Given the description of an element on the screen output the (x, y) to click on. 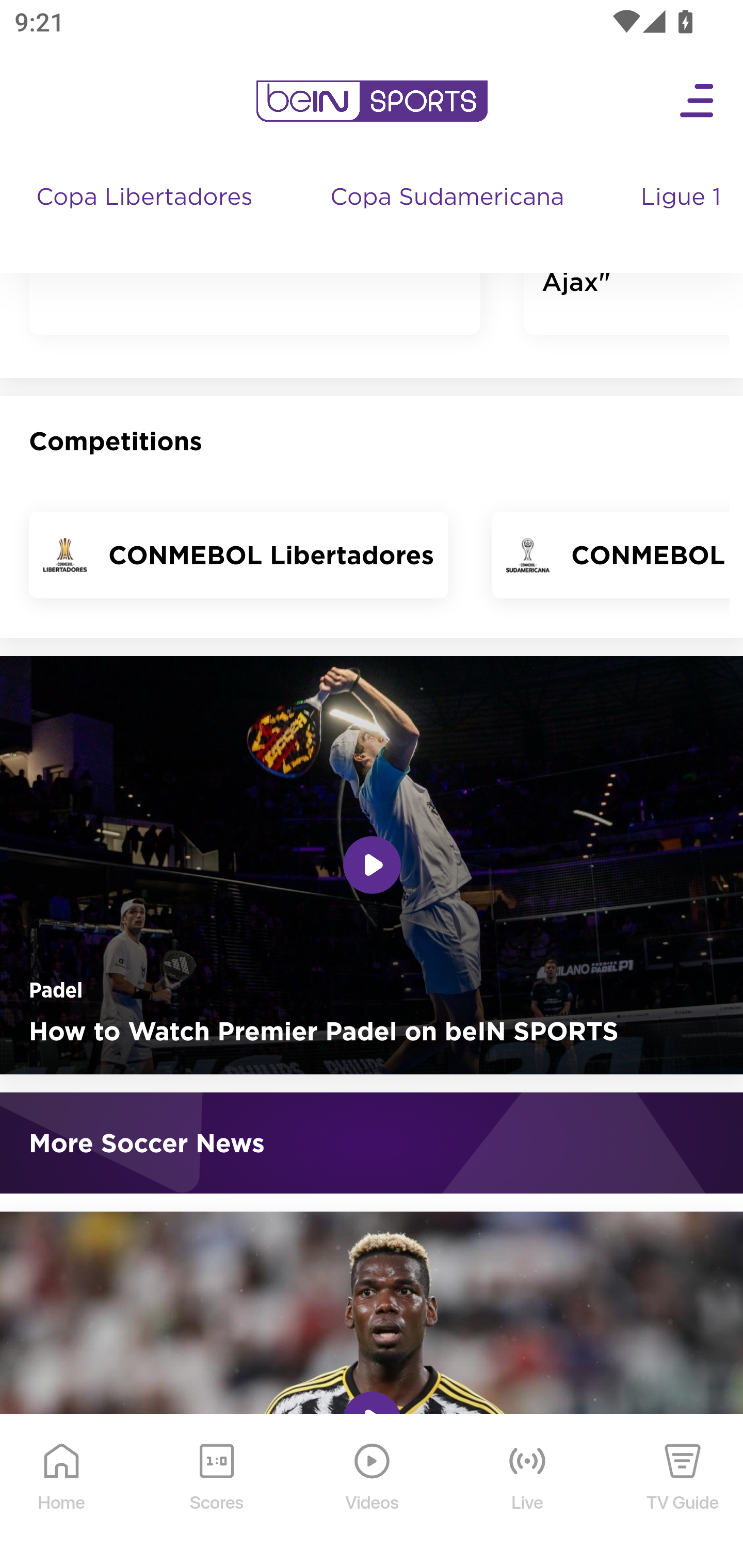
en-us?platform=mobile_android bein logo (371, 101)
Open Menu Icon (697, 101)
Copa Libertadores (146, 216)
Copa Sudamericana (448, 216)
Ligue 1 (682, 216)
Home Home Icon Home (61, 1491)
Scores Scores Icon Scores (216, 1491)
Videos Videos Icon Videos (372, 1491)
TV Guide TV Guide Icon TV Guide (682, 1491)
